Given the description of an element on the screen output the (x, y) to click on. 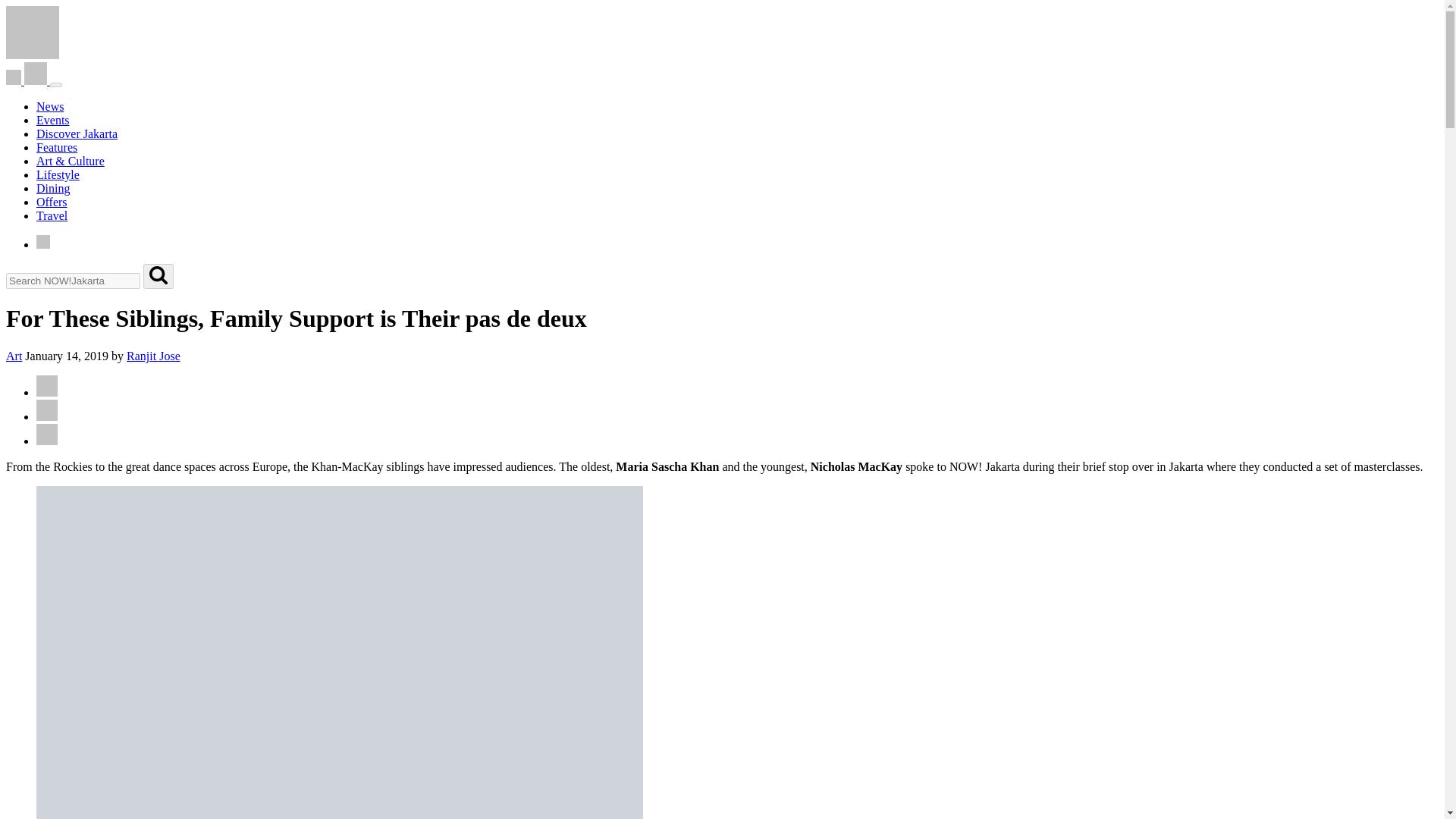
Art (13, 355)
Discover Jakarta (76, 133)
Ranjit Jose (153, 355)
Features (56, 146)
Dining (52, 187)
Events (52, 119)
News (50, 106)
Offers (51, 201)
Travel (51, 215)
Lifestyle (58, 174)
